Given the description of an element on the screen output the (x, y) to click on. 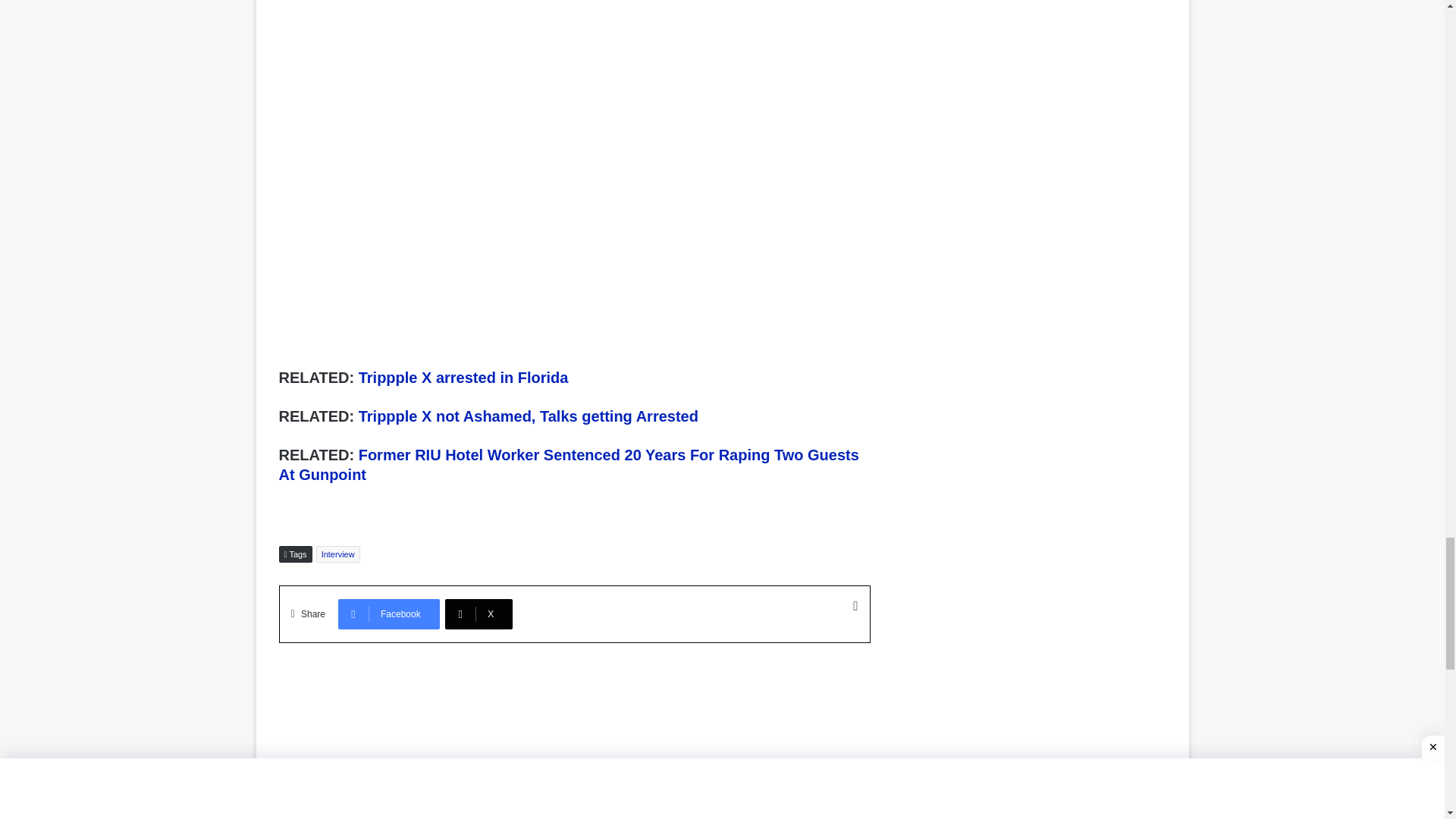
Trippple X not Ashamed, Talks getting Arrested (528, 416)
Trippple X arrested in Florida (463, 377)
Interview (337, 554)
Facebook (388, 613)
